Given the description of an element on the screen output the (x, y) to click on. 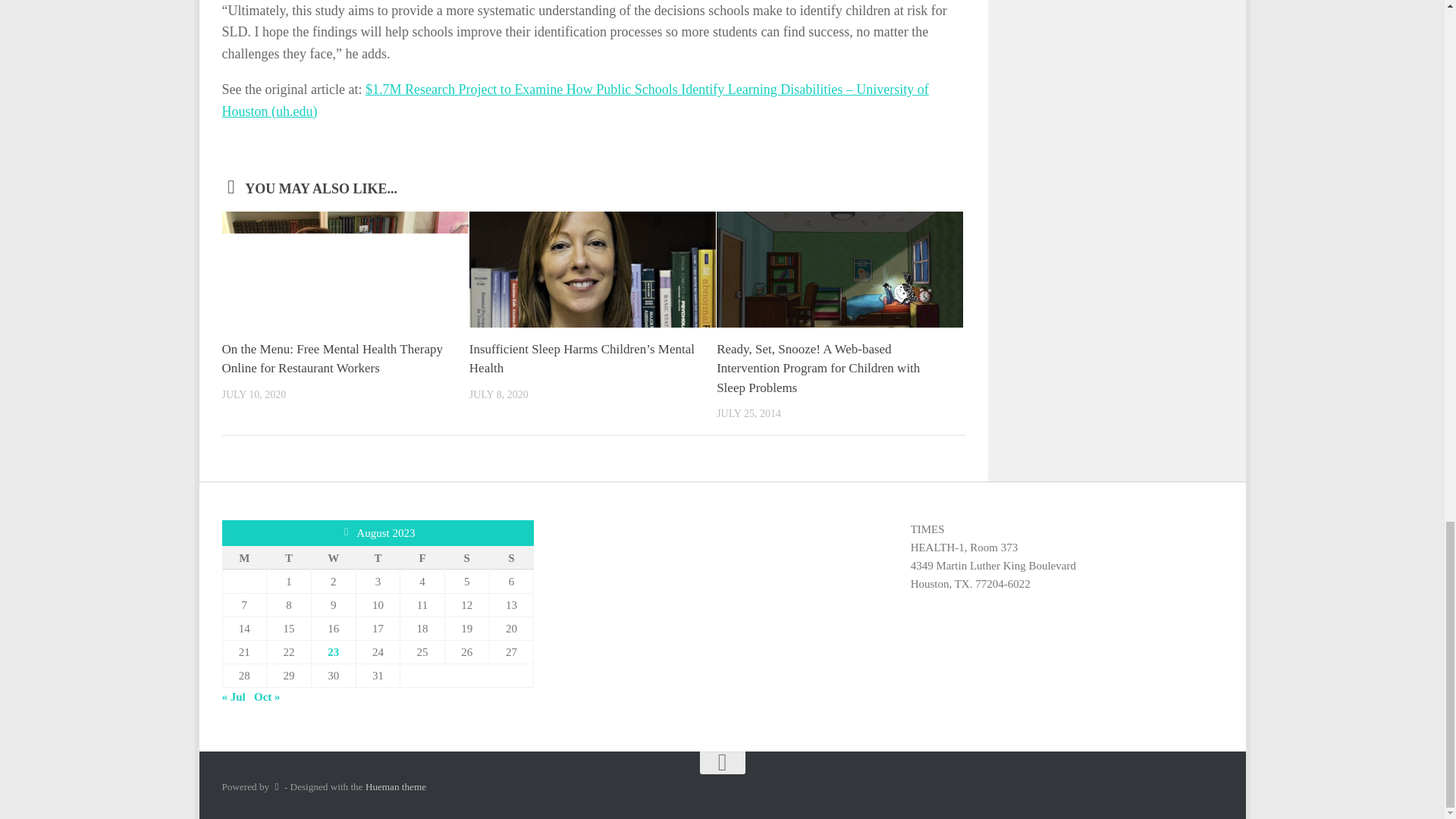
Wednesday (333, 557)
Thursday (377, 557)
Tuesday (288, 557)
Friday (422, 557)
Monday (244, 557)
